Given the description of an element on the screen output the (x, y) to click on. 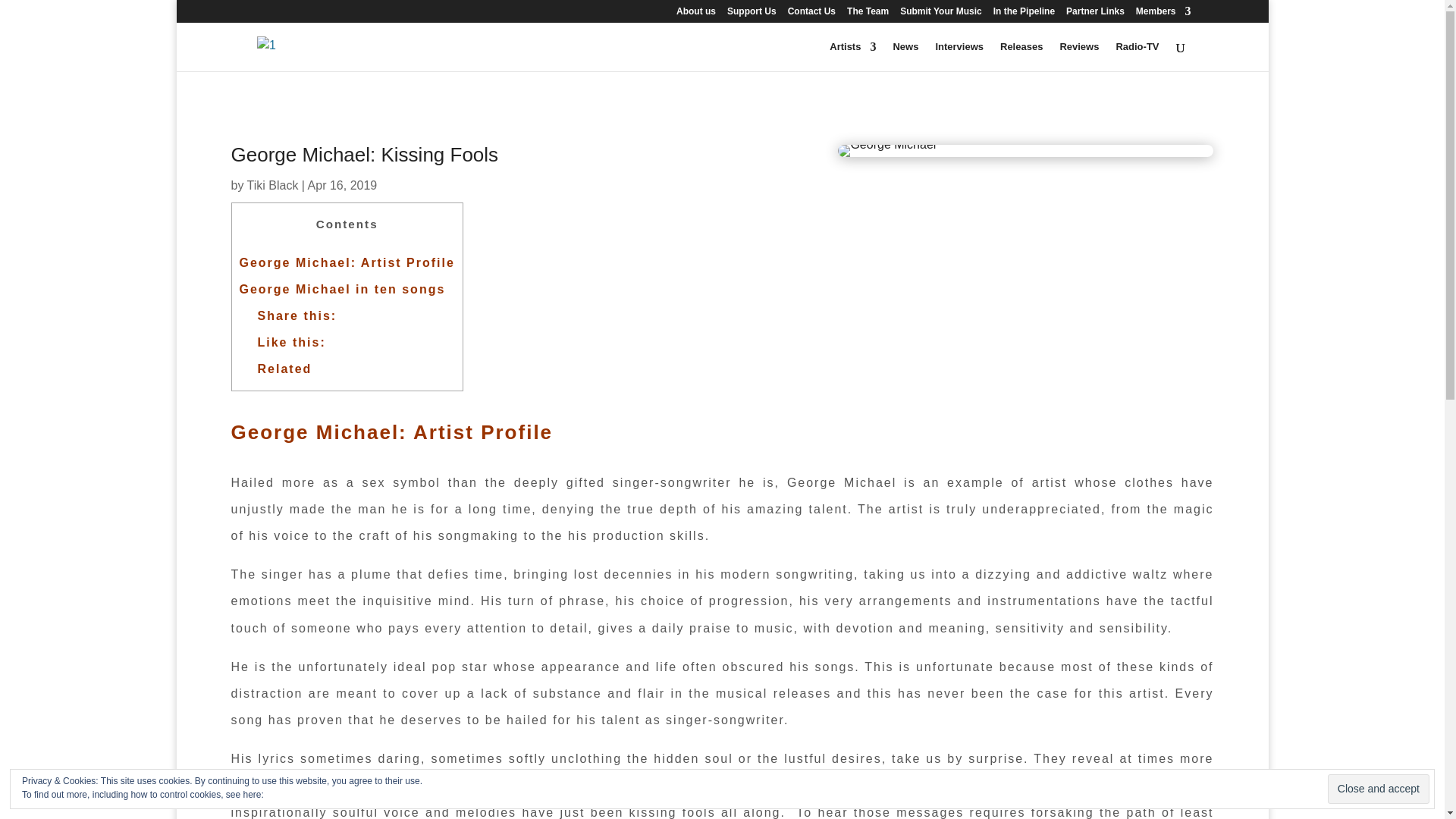
Share this: (297, 315)
Support Us (751, 14)
Interviews (959, 56)
Releases (1021, 56)
Like this: (291, 341)
The Team (867, 14)
Artists (852, 56)
Tiki Black (272, 185)
About us (696, 14)
George Michael: Artist Profile (347, 262)
